Given the description of an element on the screen output the (x, y) to click on. 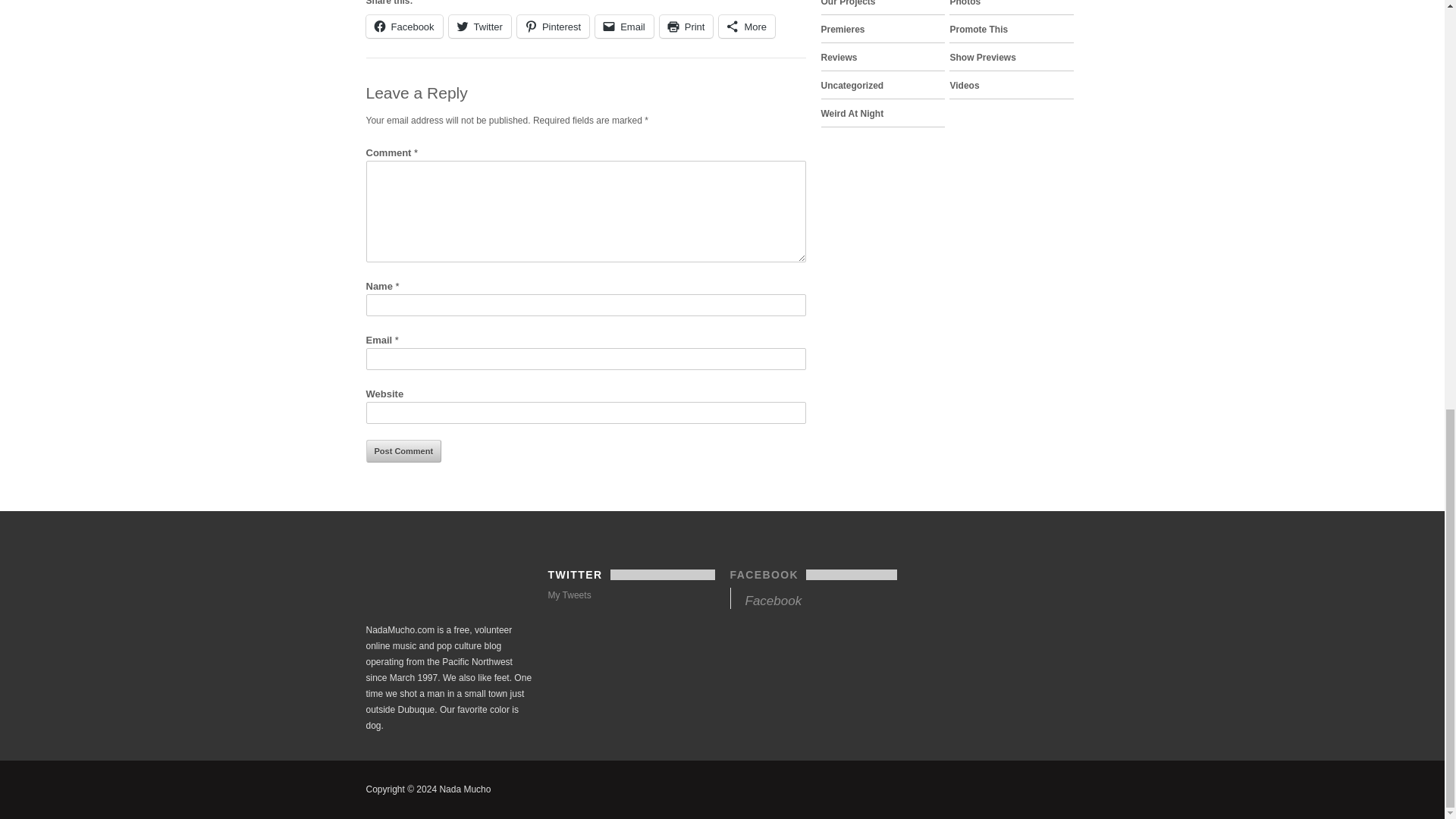
Click to email a link to a friend (624, 26)
Click to share on Facebook (403, 26)
Click to print (686, 26)
Post Comment (403, 450)
Twitter (479, 26)
Email (624, 26)
Pinterest (552, 26)
Click to share on Twitter (479, 26)
More (746, 26)
Facebook (403, 26)
Click to share on Pinterest (552, 26)
Print (686, 26)
